Given the description of an element on the screen output the (x, y) to click on. 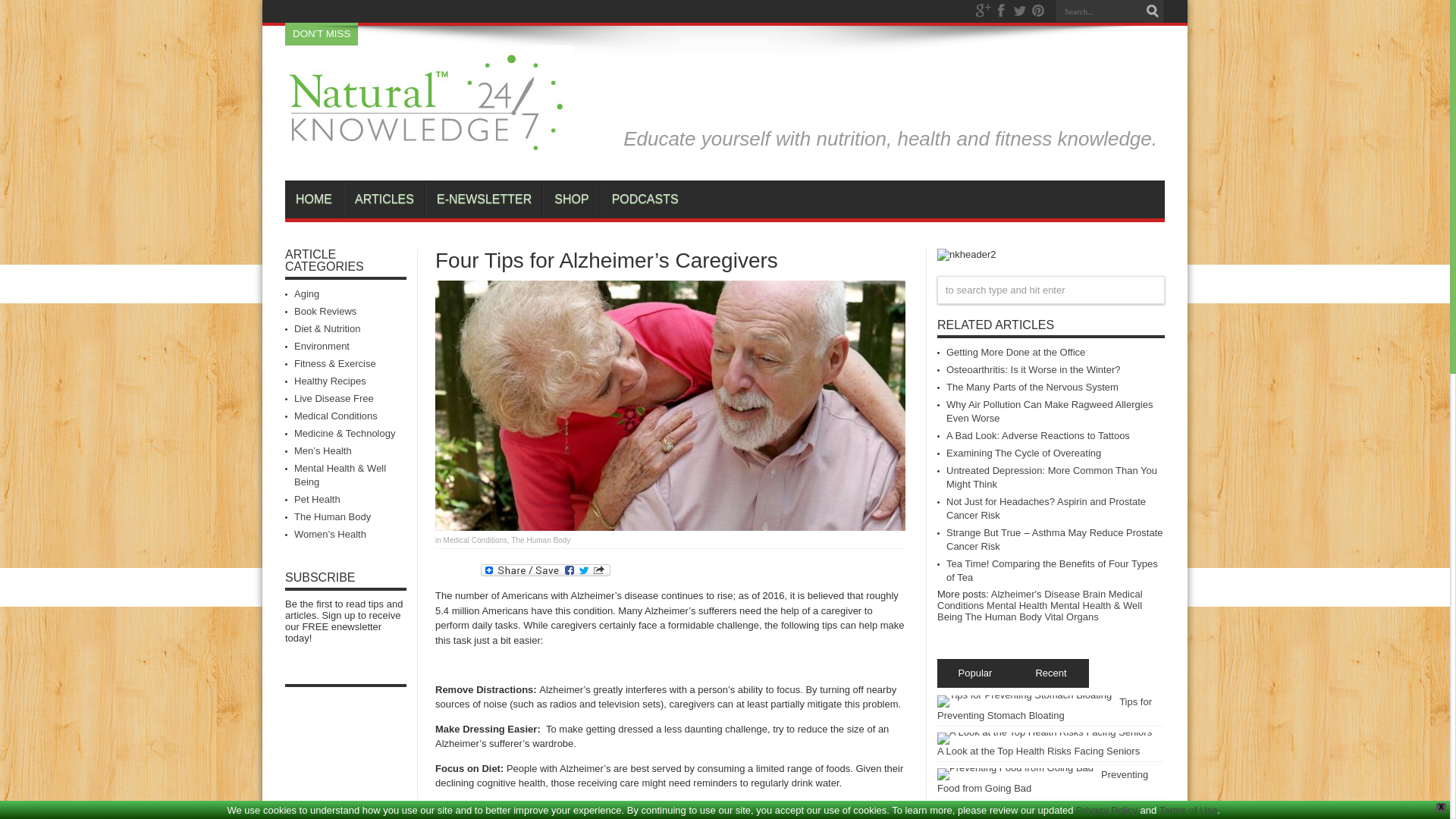
HOME (313, 199)
Twitter (1019, 10)
SHOP (570, 199)
Search... (1097, 11)
Pinterest (1037, 10)
Search (1152, 11)
Search (1152, 11)
Search (1152, 11)
Medical Conditions (476, 540)
The Human Body (540, 540)
